Given the description of an element on the screen output the (x, y) to click on. 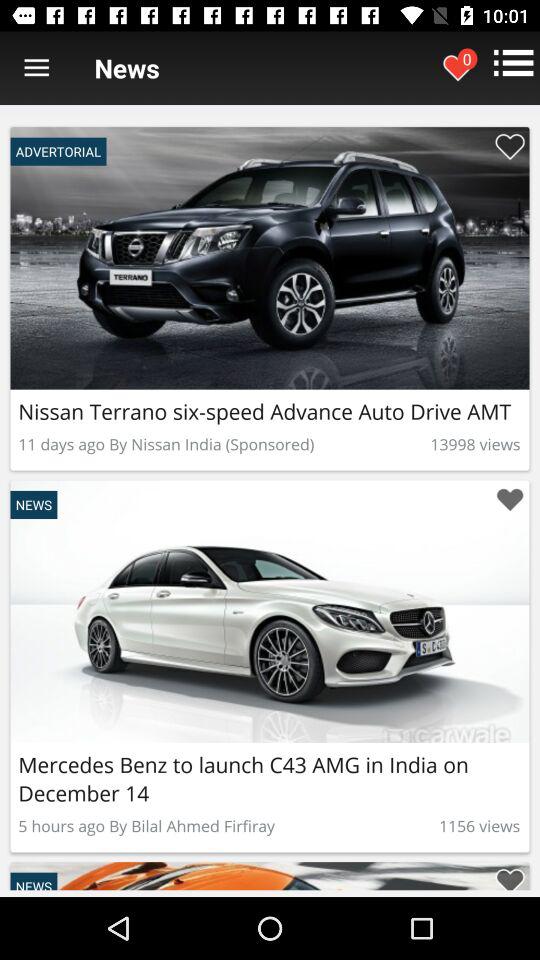
favorites the advertorial (509, 876)
